Given the description of an element on the screen output the (x, y) to click on. 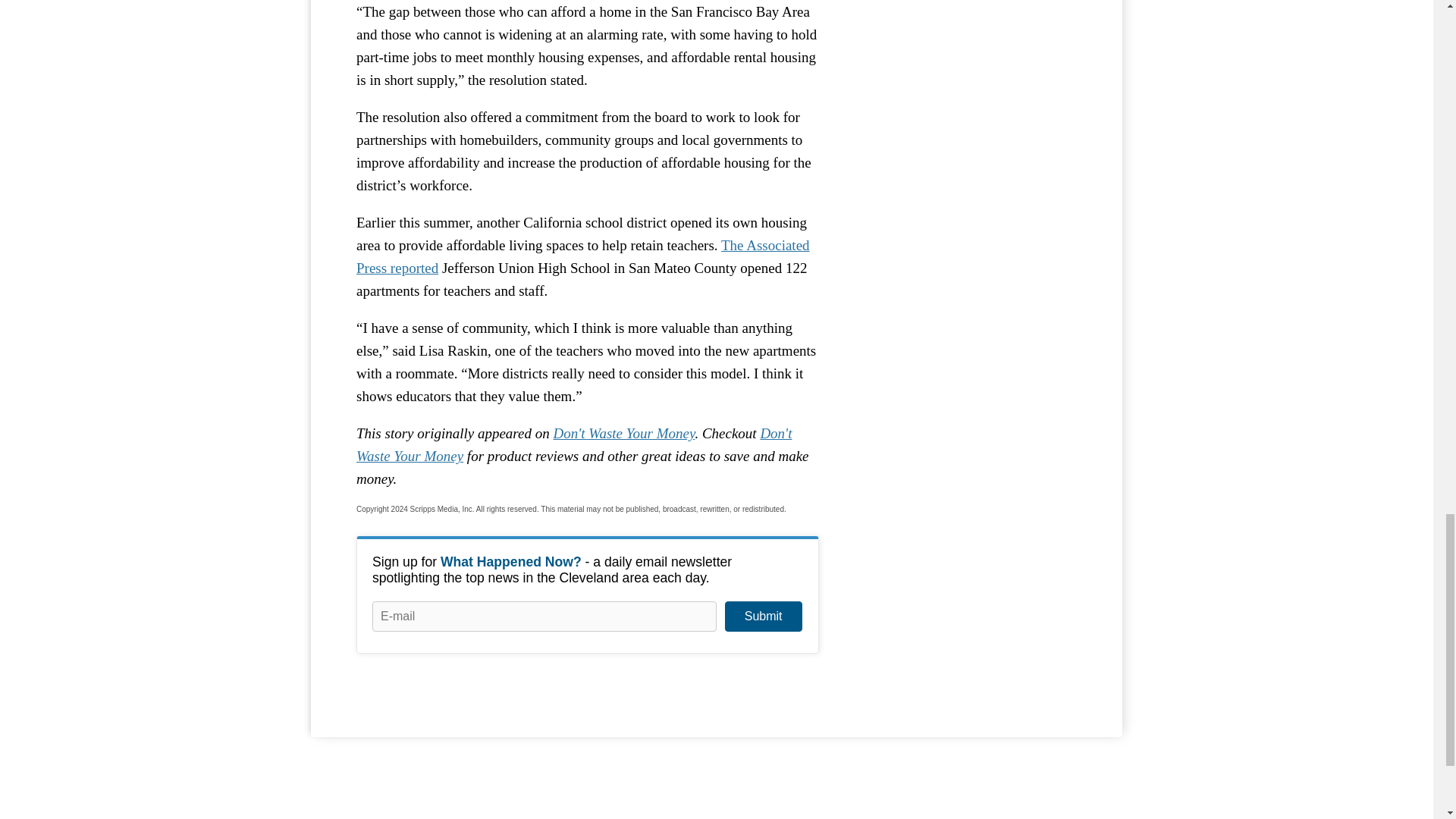
Submit (763, 616)
